Given the description of an element on the screen output the (x, y) to click on. 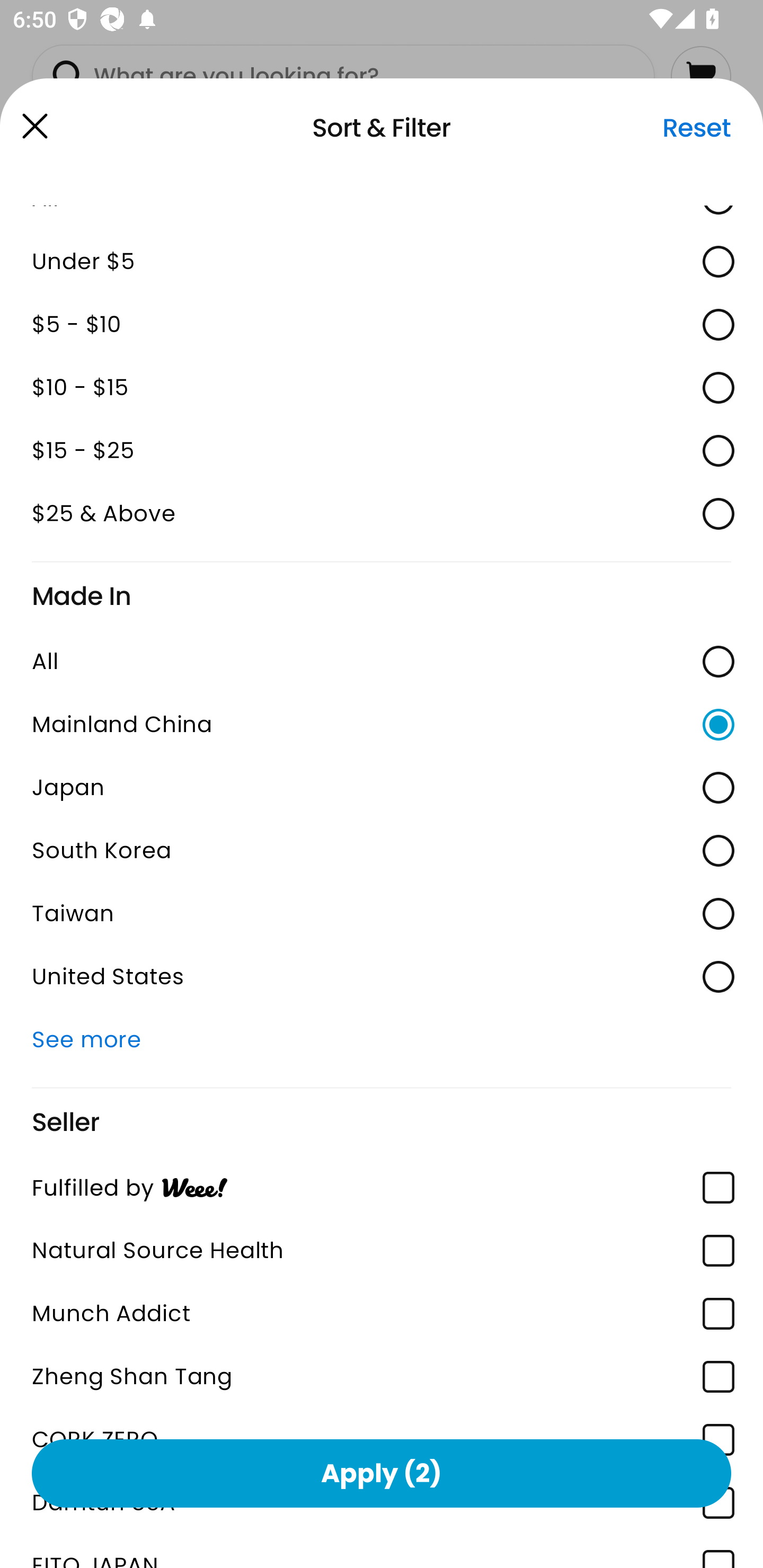
Reset (696, 127)
See more (381, 1039)
Apply (2) (381, 1472)
